Given the description of an element on the screen output the (x, y) to click on. 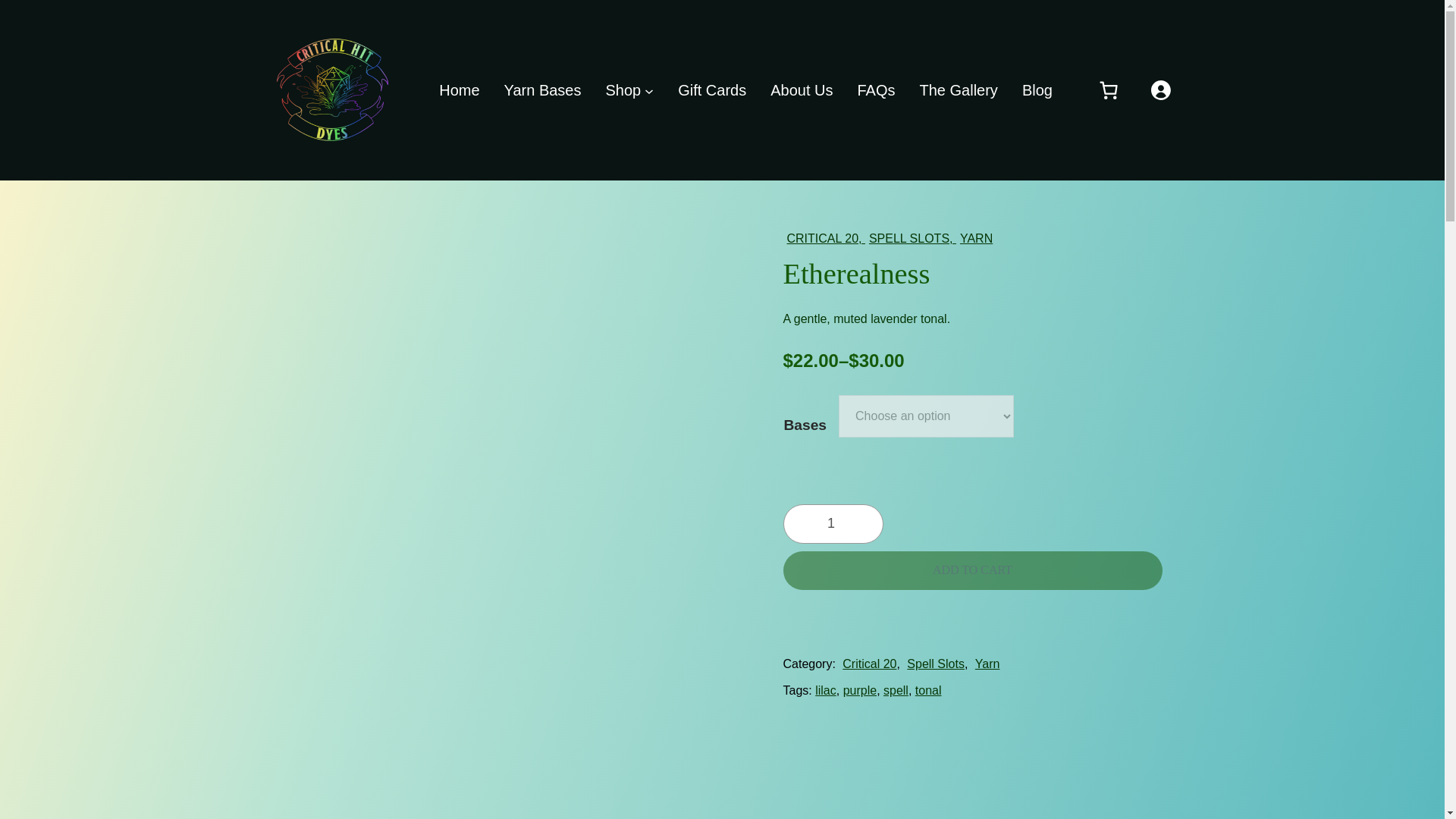
CRITICAL 20 (823, 237)
Yarn Bases (541, 89)
Shop (622, 89)
Blog (1037, 89)
ADD TO CART (972, 570)
YARN (975, 237)
SPELL SLOTS (909, 237)
The Gallery (957, 89)
1 (832, 523)
Spell Slots (935, 663)
